Given the description of an element on the screen output the (x, y) to click on. 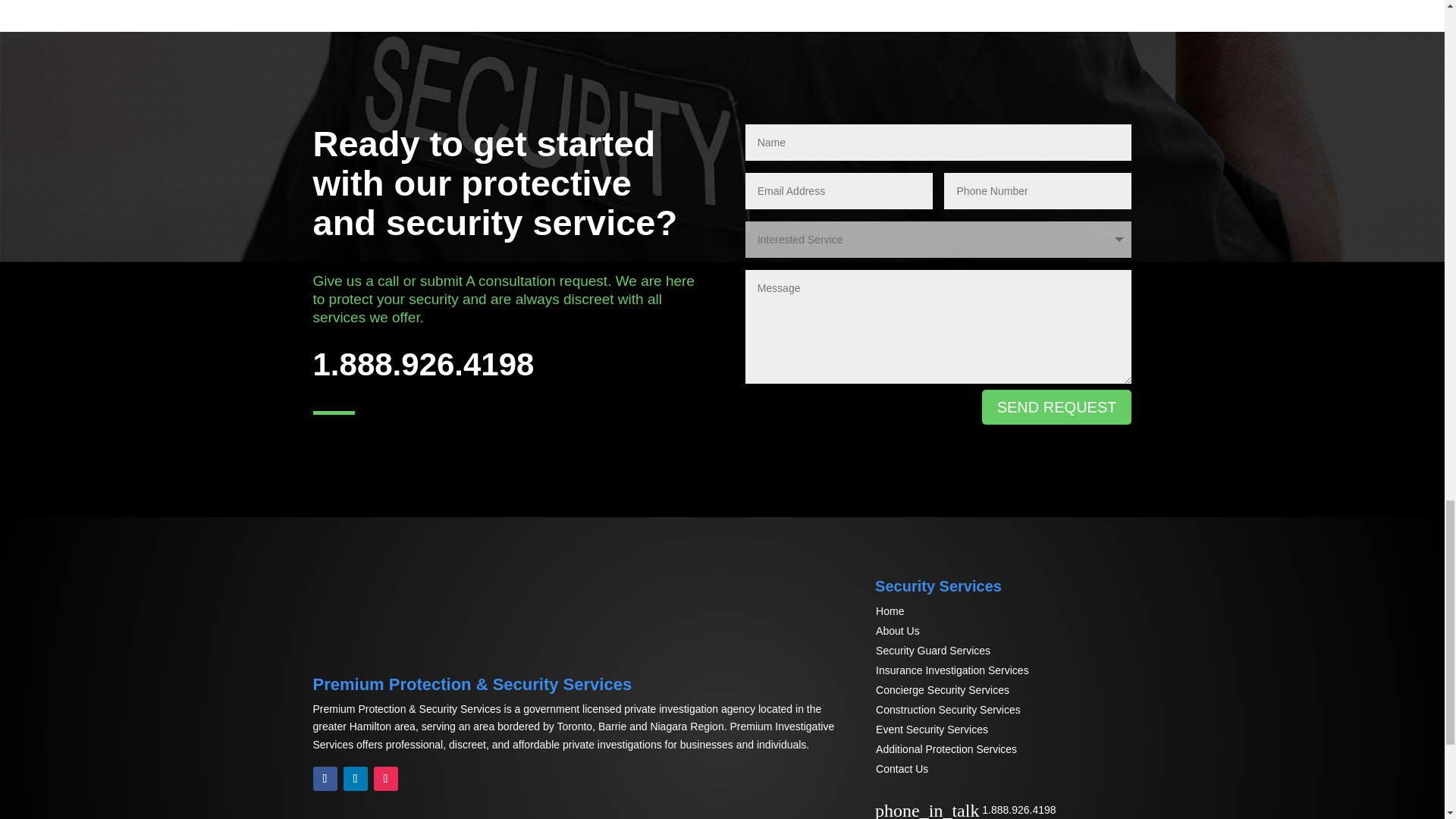
Follow on LinkedIn (354, 778)
SEND REQUEST (1056, 407)
Home (890, 611)
Follow on Facebook (324, 778)
Follow on Instagram (384, 778)
